Given the description of an element on the screen output the (x, y) to click on. 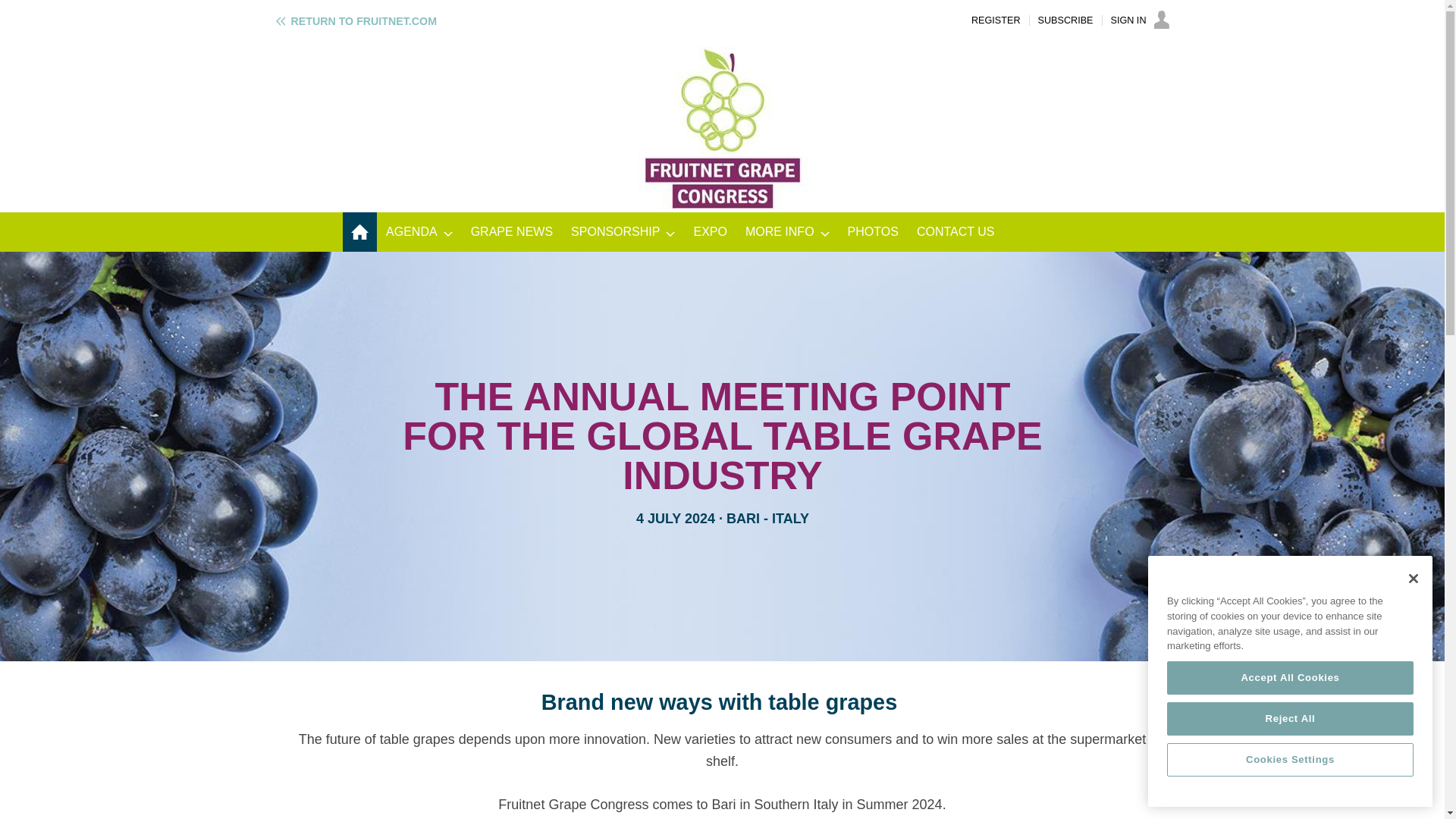
RETURN TO FRUITNET.COM (355, 21)
GRAPE NEWS (511, 231)
REGISTER (995, 20)
SUBSCRIBE (1065, 20)
SIGN IN (1139, 20)
AGENDA (419, 231)
